Given the description of an element on the screen output the (x, y) to click on. 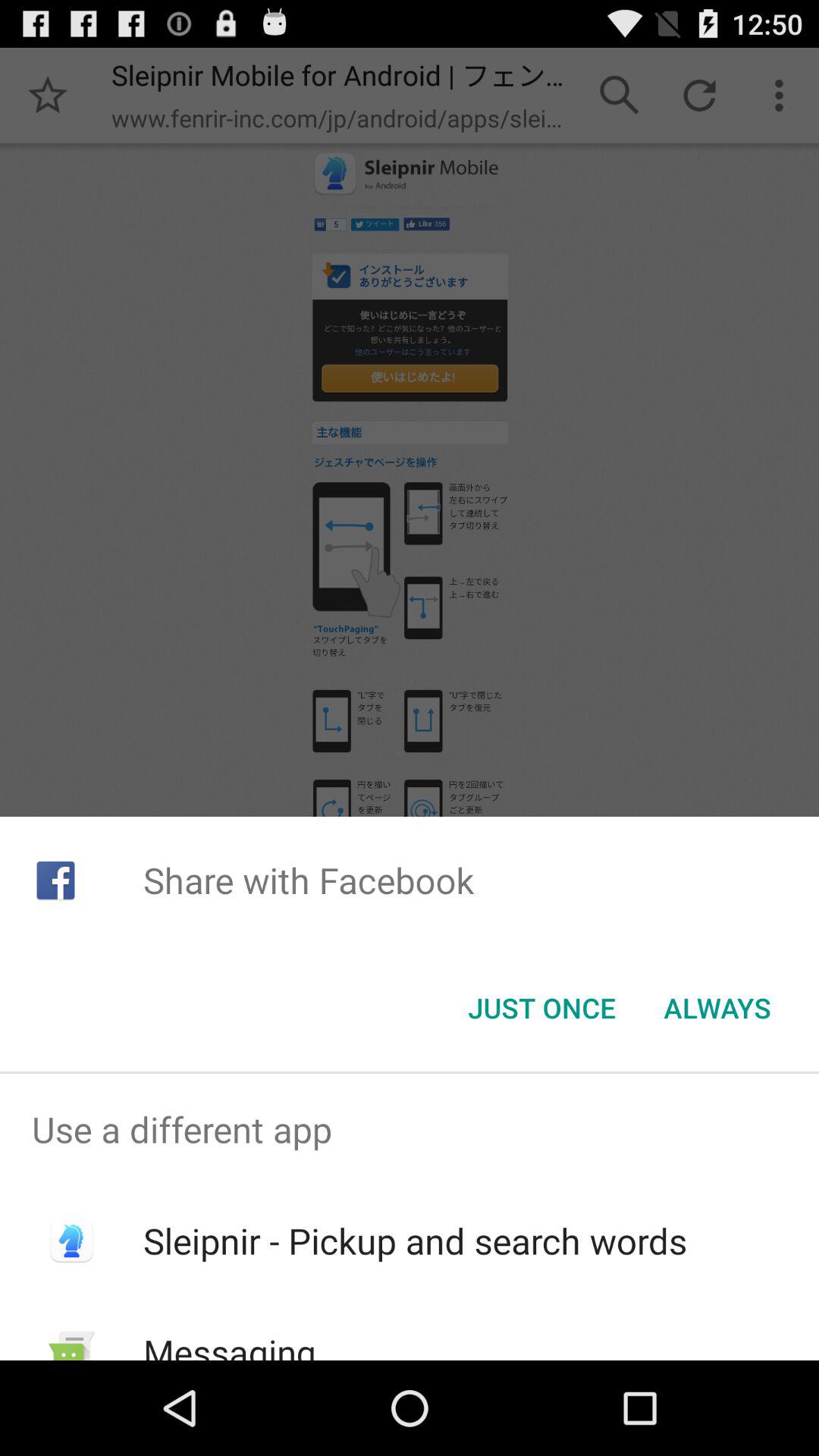
launch the icon below sleipnir pickup and app (229, 1344)
